Given the description of an element on the screen output the (x, y) to click on. 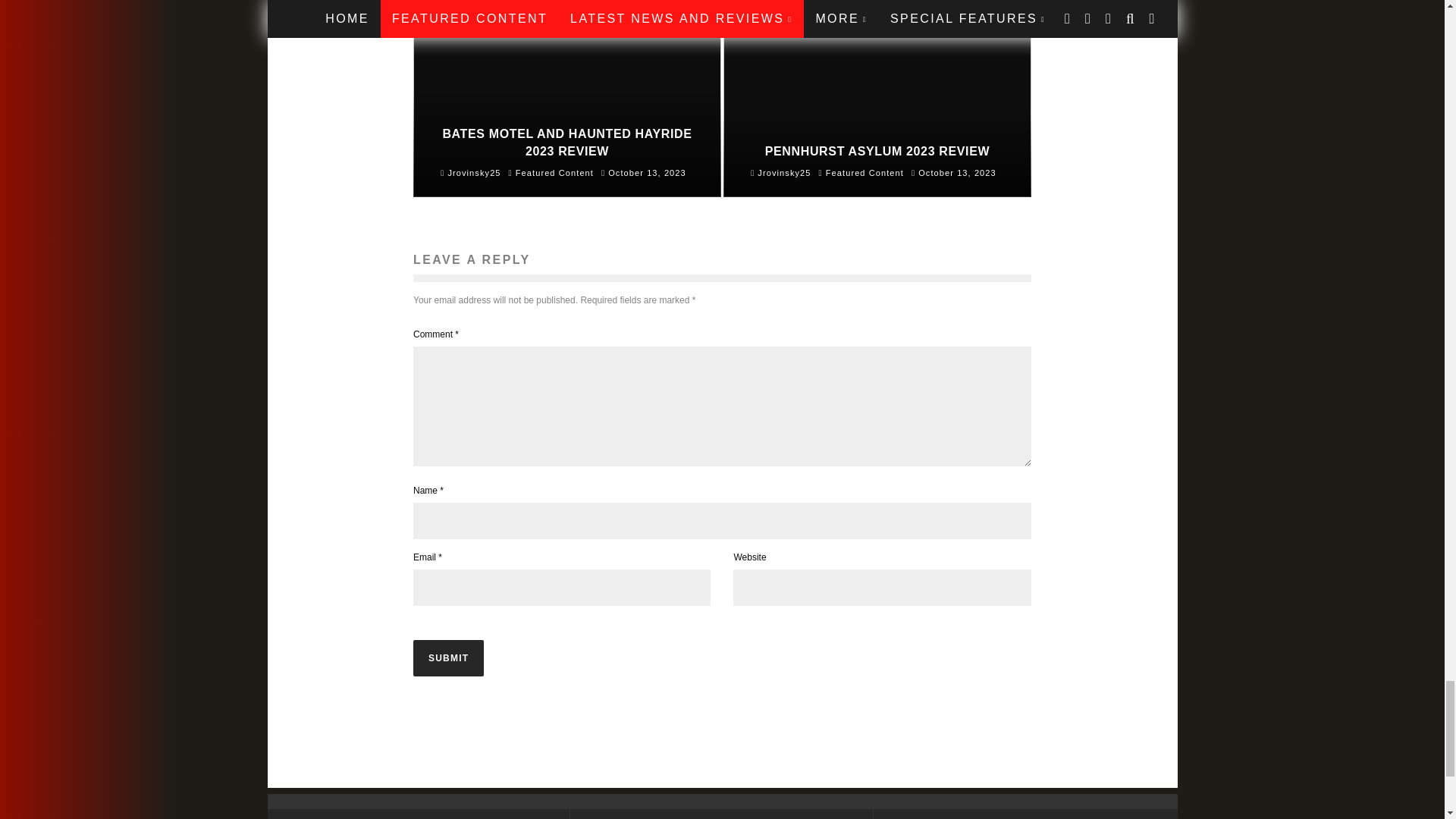
Submit (448, 657)
